Given the description of an element on the screen output the (x, y) to click on. 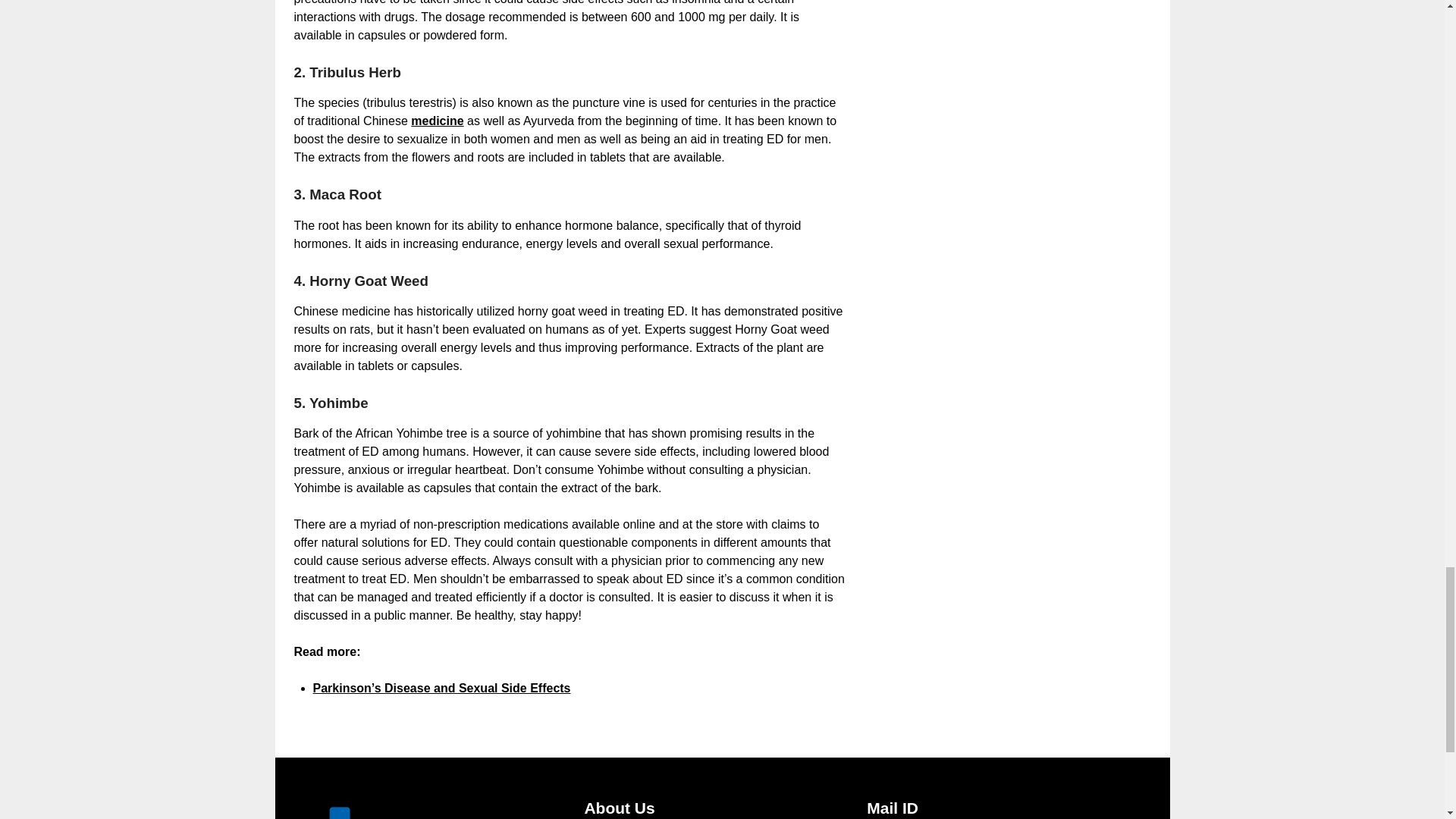
medicine (436, 120)
